Given the description of an element on the screen output the (x, y) to click on. 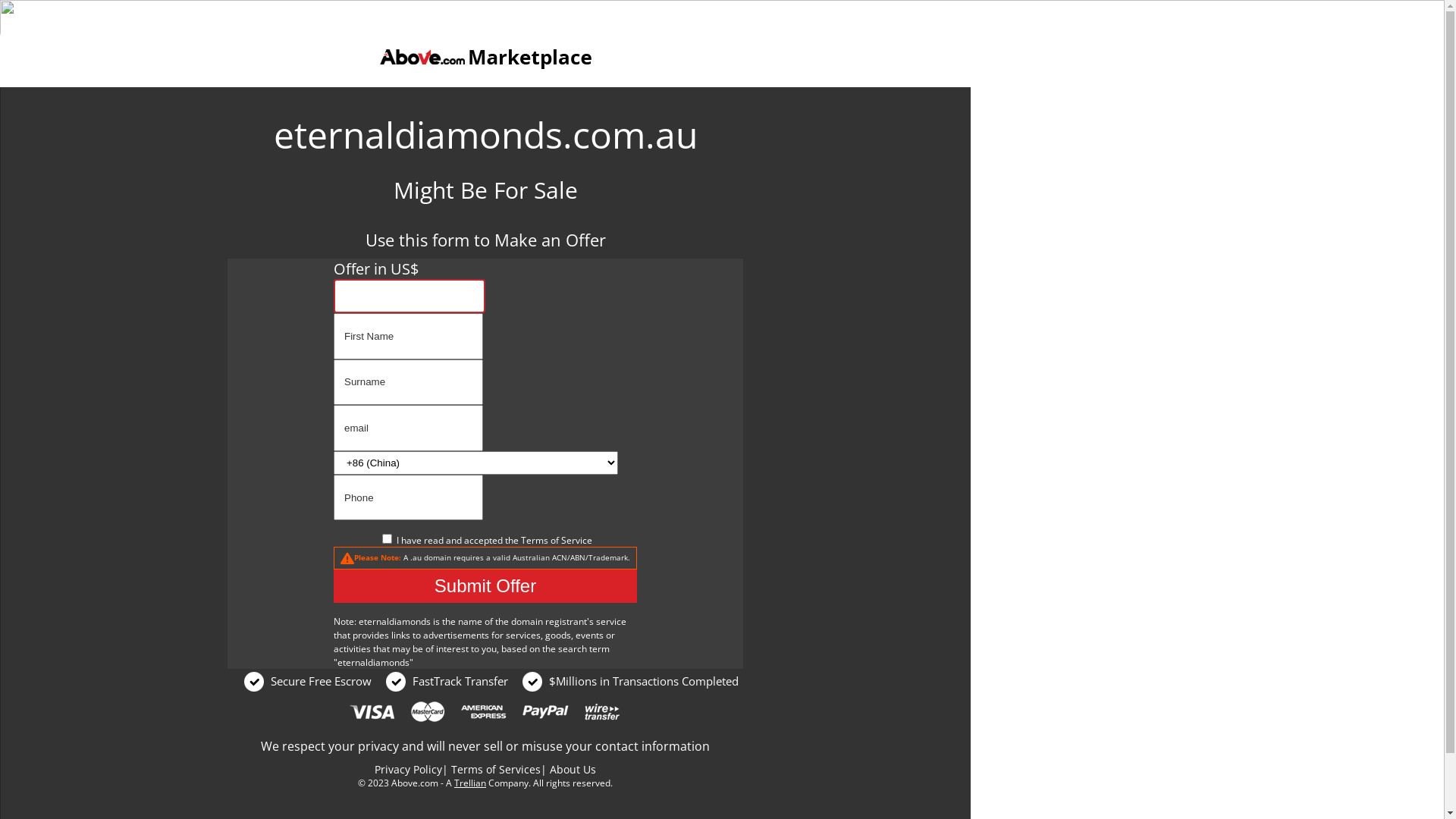
Trellian Element type: text (470, 782)
Privacy Policy Element type: text (408, 769)
Terms Element type: text (533, 539)
Submit Offer Element type: text (485, 585)
Terms of Services Element type: text (495, 769)
About Us Element type: text (572, 769)
